Given the description of an element on the screen output the (x, y) to click on. 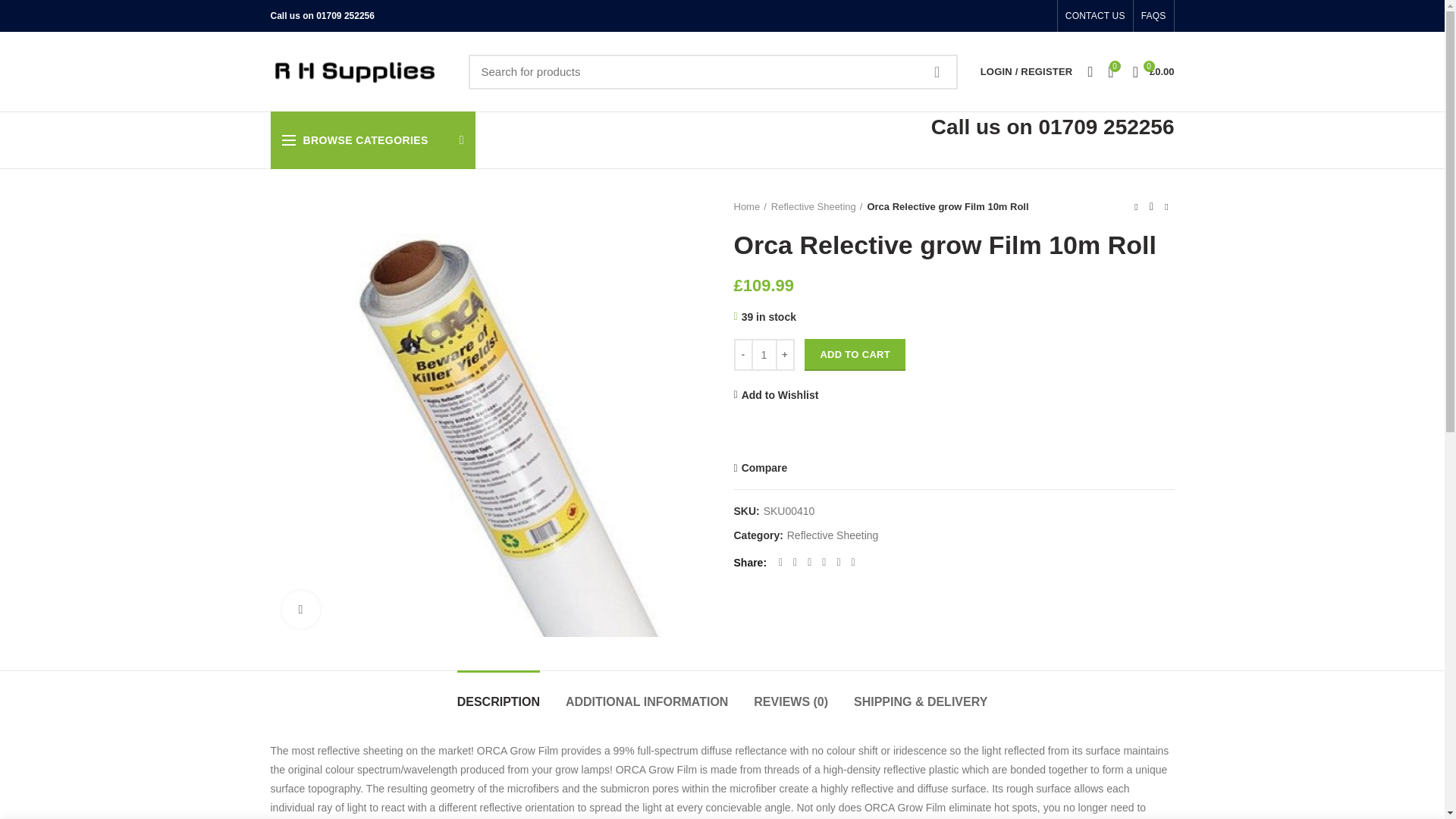
PayPal (953, 436)
FAQS (1153, 15)
CONTACT US (1095, 15)
SEARCH (937, 71)
Login (946, 254)
Login (946, 296)
